Given the description of an element on the screen output the (x, y) to click on. 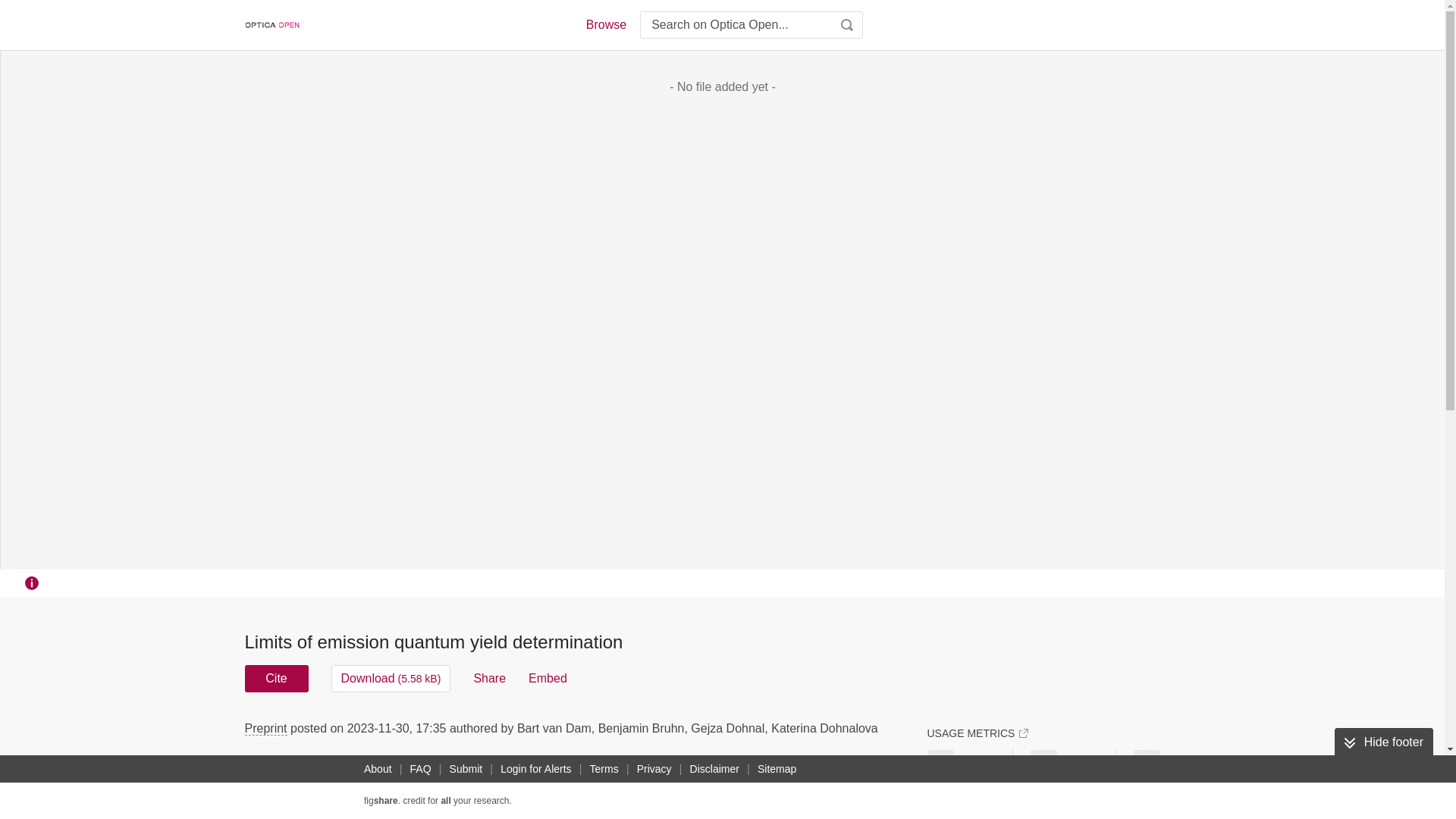
Hide footer (1383, 742)
FAQ (420, 769)
About (377, 769)
Embed (547, 678)
Login for Alerts (535, 769)
Share (489, 678)
Terms (604, 769)
Disclaimer (714, 769)
Submit (466, 769)
Browse (605, 24)
